Given the description of an element on the screen output the (x, y) to click on. 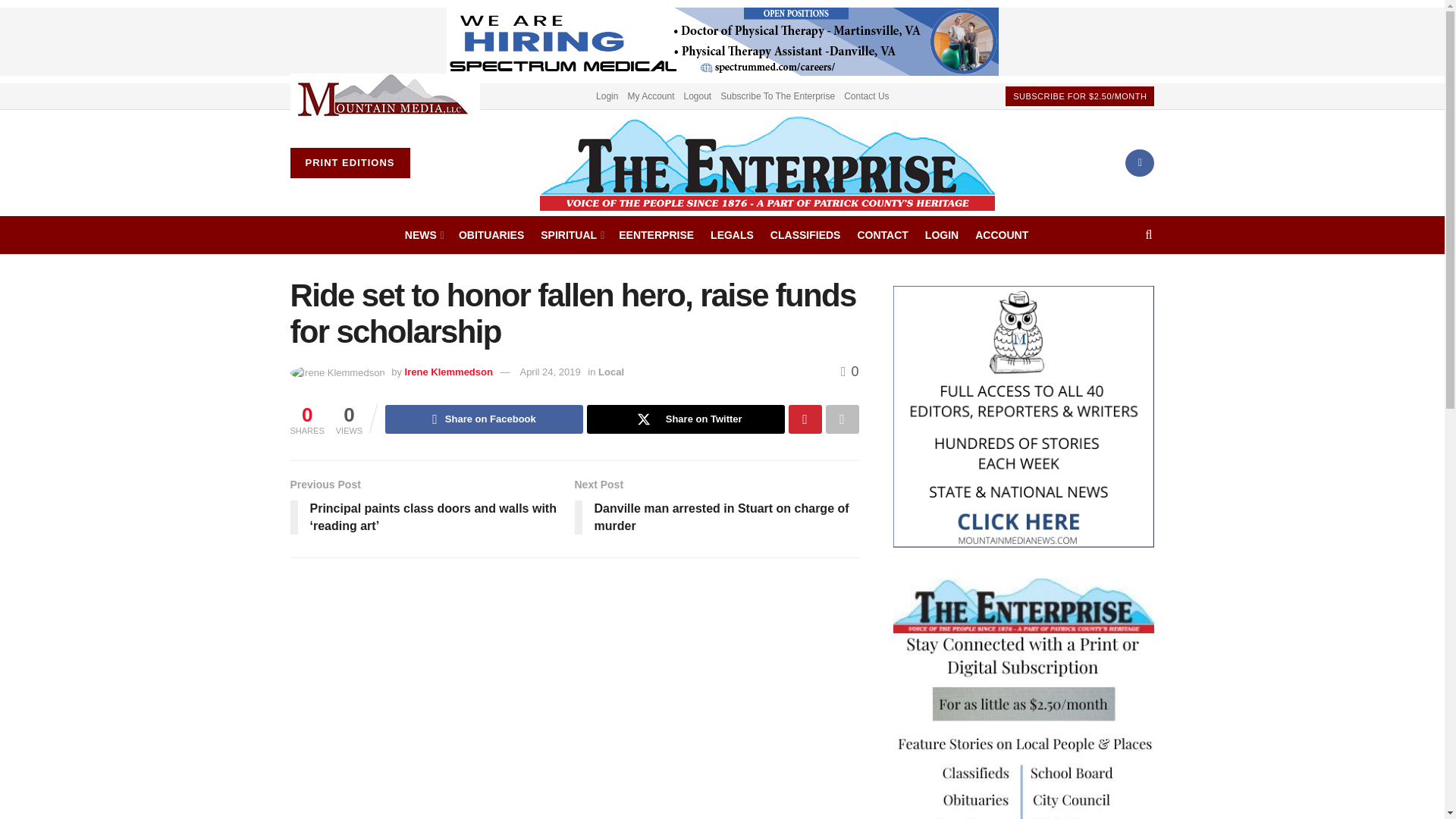
Contact Us (866, 95)
Subscribe To The Enterprise (777, 95)
CLASSIFIEDS (805, 234)
LEGALS (732, 234)
SPIRITUAL (571, 234)
LOGIN (941, 234)
NEWS (423, 234)
EENTERPRISE (656, 234)
My Account (650, 95)
Logout (697, 95)
PRINT EDITIONS (349, 163)
CONTACT (882, 234)
OBITUARIES (491, 234)
ACCOUNT (1001, 234)
